Given the description of an element on the screen output the (x, y) to click on. 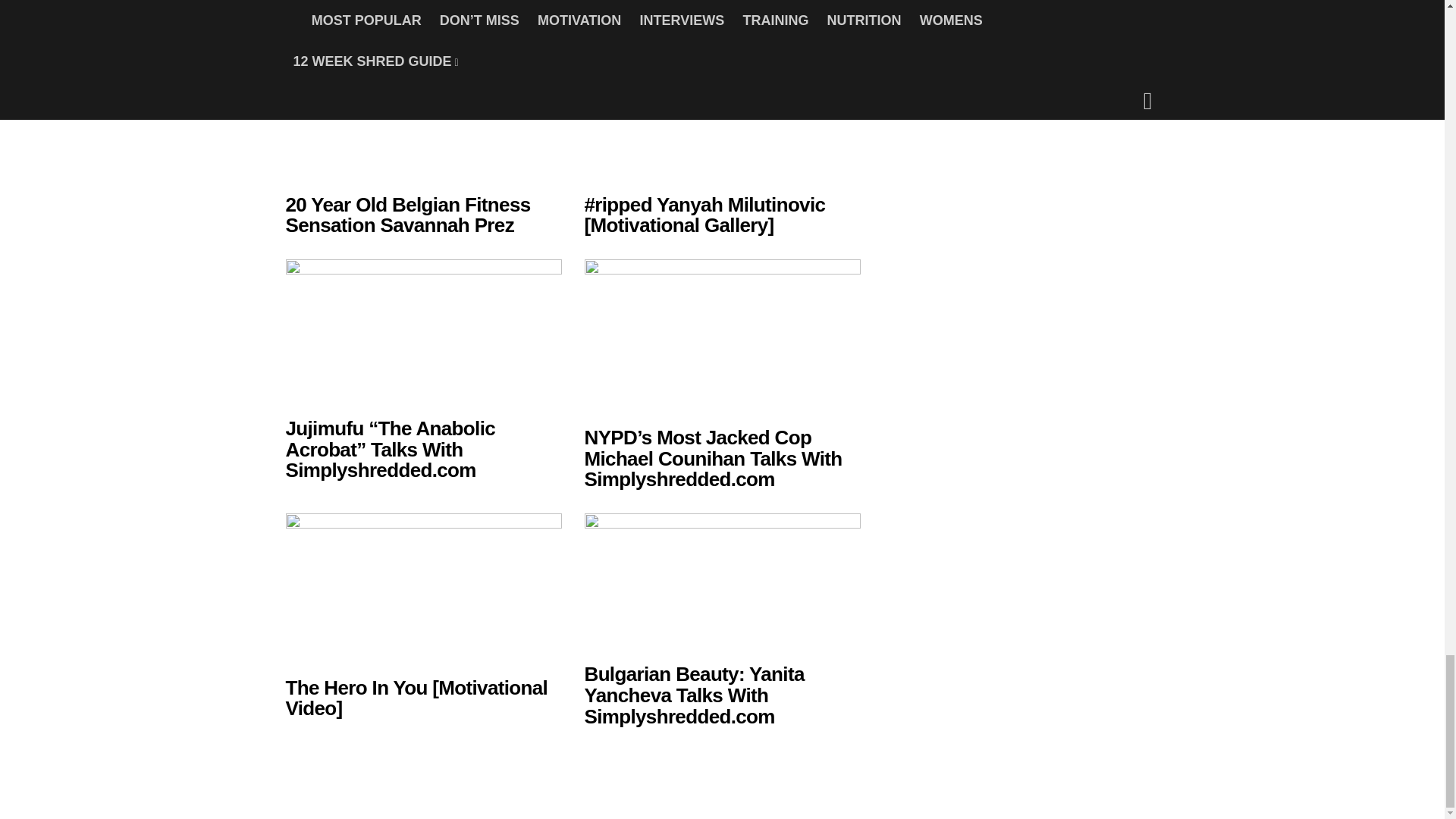
20 Year Old Belgian Fitness Sensation Savannah Prez (407, 215)
